Given the description of an element on the screen output the (x, y) to click on. 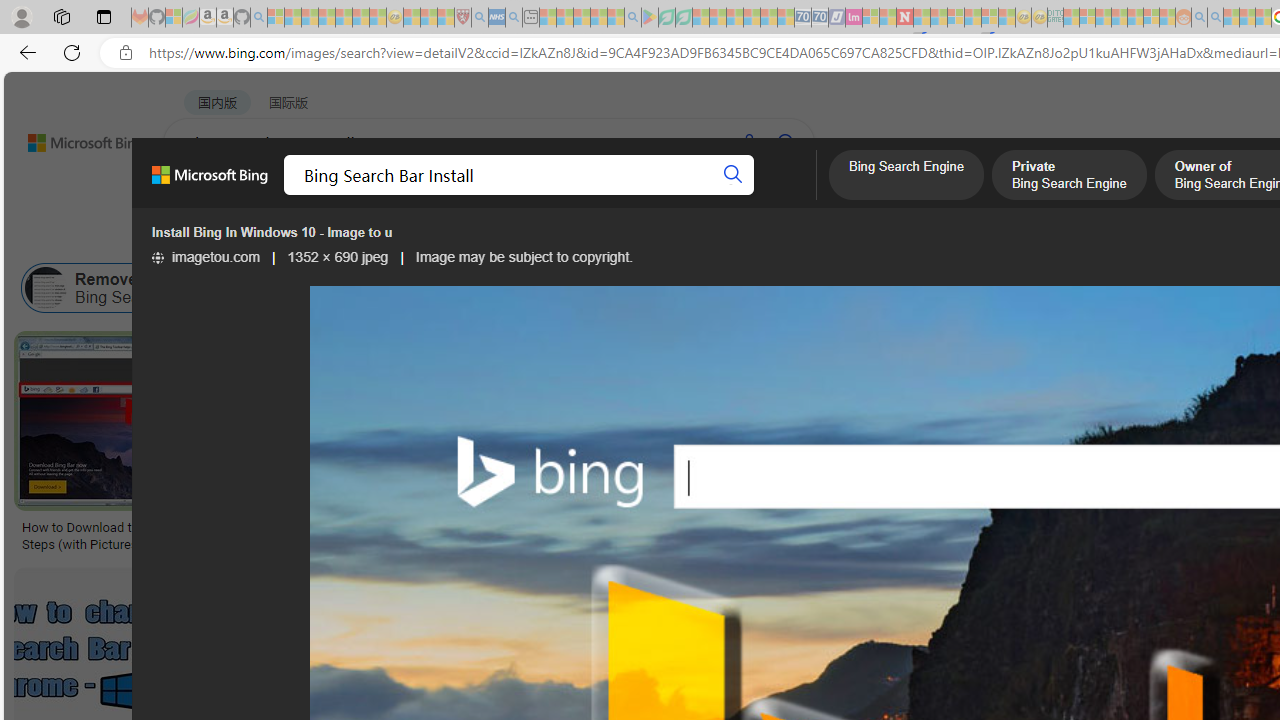
Layout (443, 237)
1:35 (849, 349)
People (520, 237)
Bing Search Bar Settings (754, 287)
Expert Portfolios - Sleeping (1119, 17)
Image size (221, 237)
Type (373, 237)
Bing Search Bar Settings (825, 287)
